Given the description of an element on the screen output the (x, y) to click on. 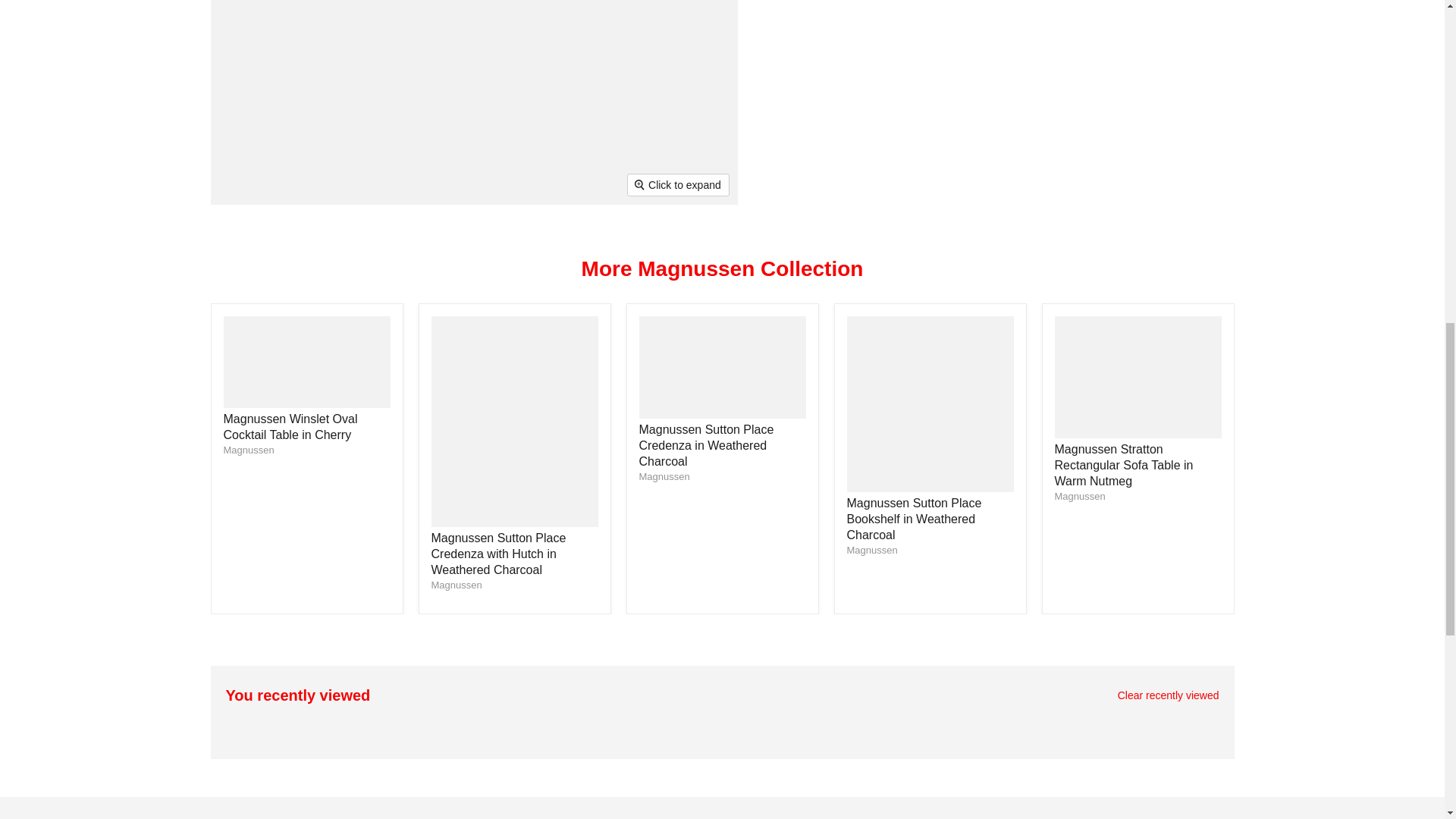
Magnussen (247, 449)
Magnussen (870, 550)
Magnussen (1079, 496)
Magnussen (455, 584)
Magnussen (663, 476)
